Given the description of an element on the screen output the (x, y) to click on. 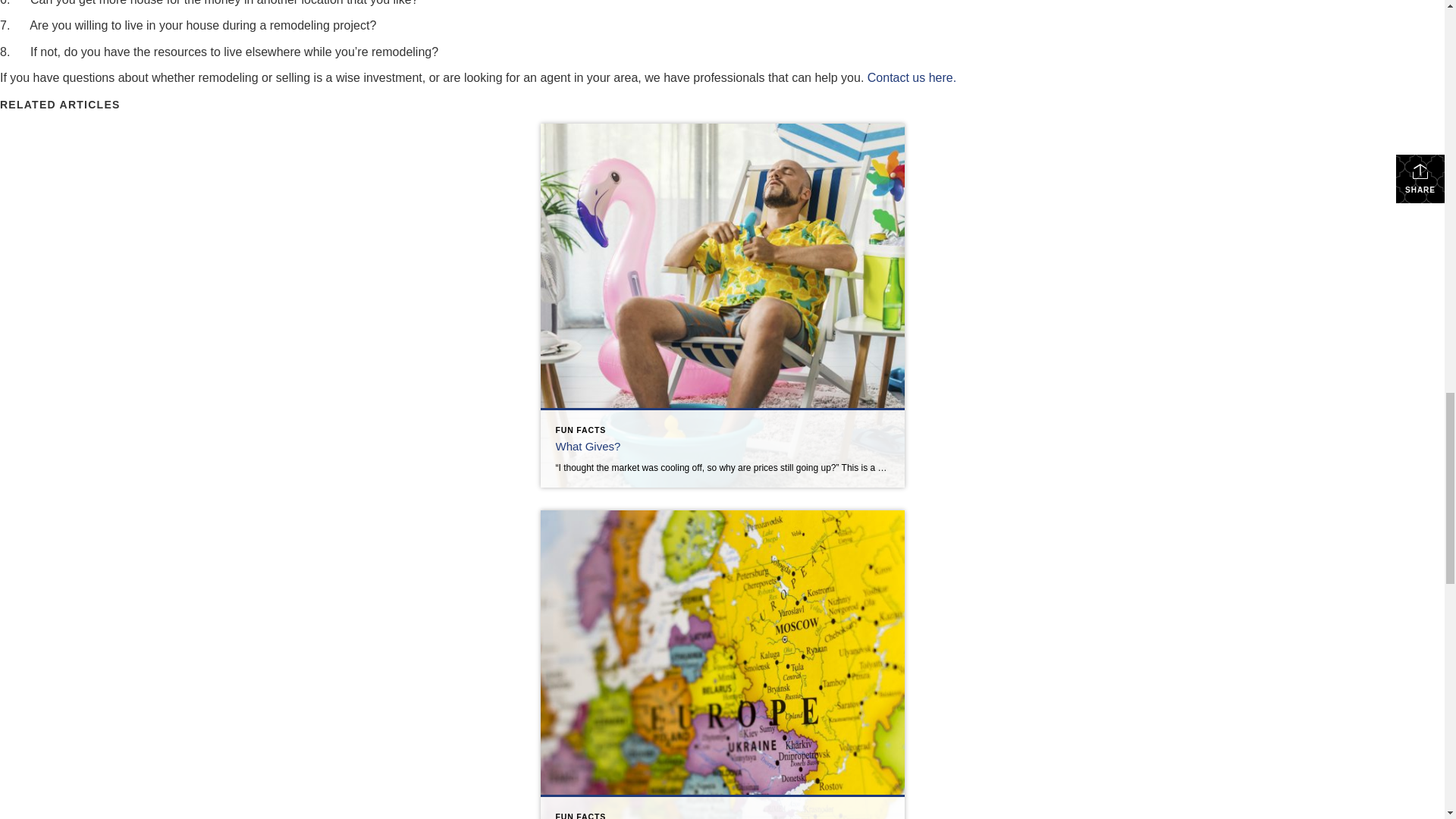
Contact us here. (911, 77)
